Given the description of an element on the screen output the (x, y) to click on. 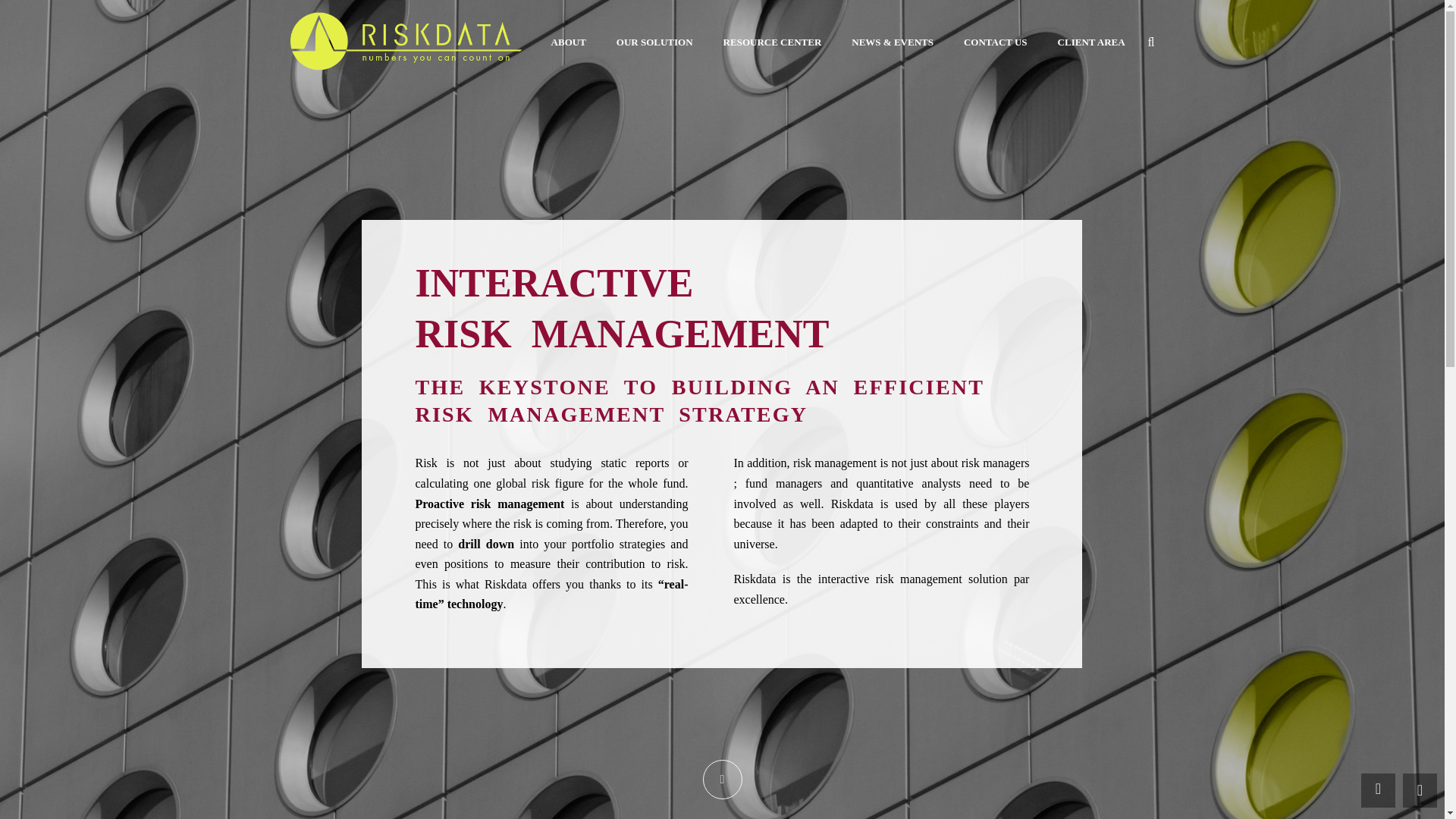
ABOUT (568, 42)
Contact (1420, 790)
OUR SOLUTION (654, 42)
CONTACT US (995, 42)
CLIENT AREA (1091, 42)
Latest Risks from Market (1377, 790)
RESOURCE CENTER (772, 42)
